Given the description of an element on the screen output the (x, y) to click on. 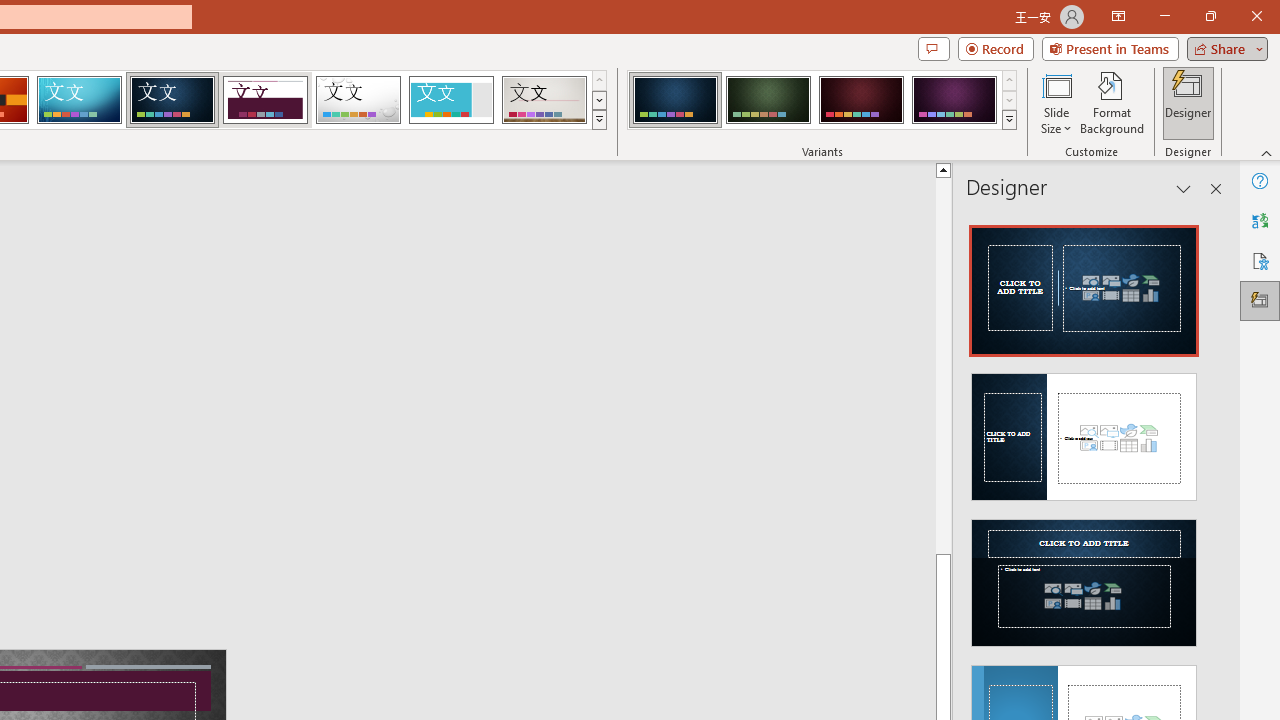
Row Down (1009, 100)
Close (1256, 16)
Variants (1009, 120)
Format Background (1111, 102)
Recommended Design: Design Idea (1083, 284)
Task Pane Options (1183, 188)
Themes (598, 120)
Close pane (1215, 188)
Share (1223, 48)
Ribbon Display Options (1118, 16)
Dividend (265, 100)
Designer (1260, 300)
Translator (1260, 220)
Damask Variant 4 (953, 100)
